Given the description of an element on the screen output the (x, y) to click on. 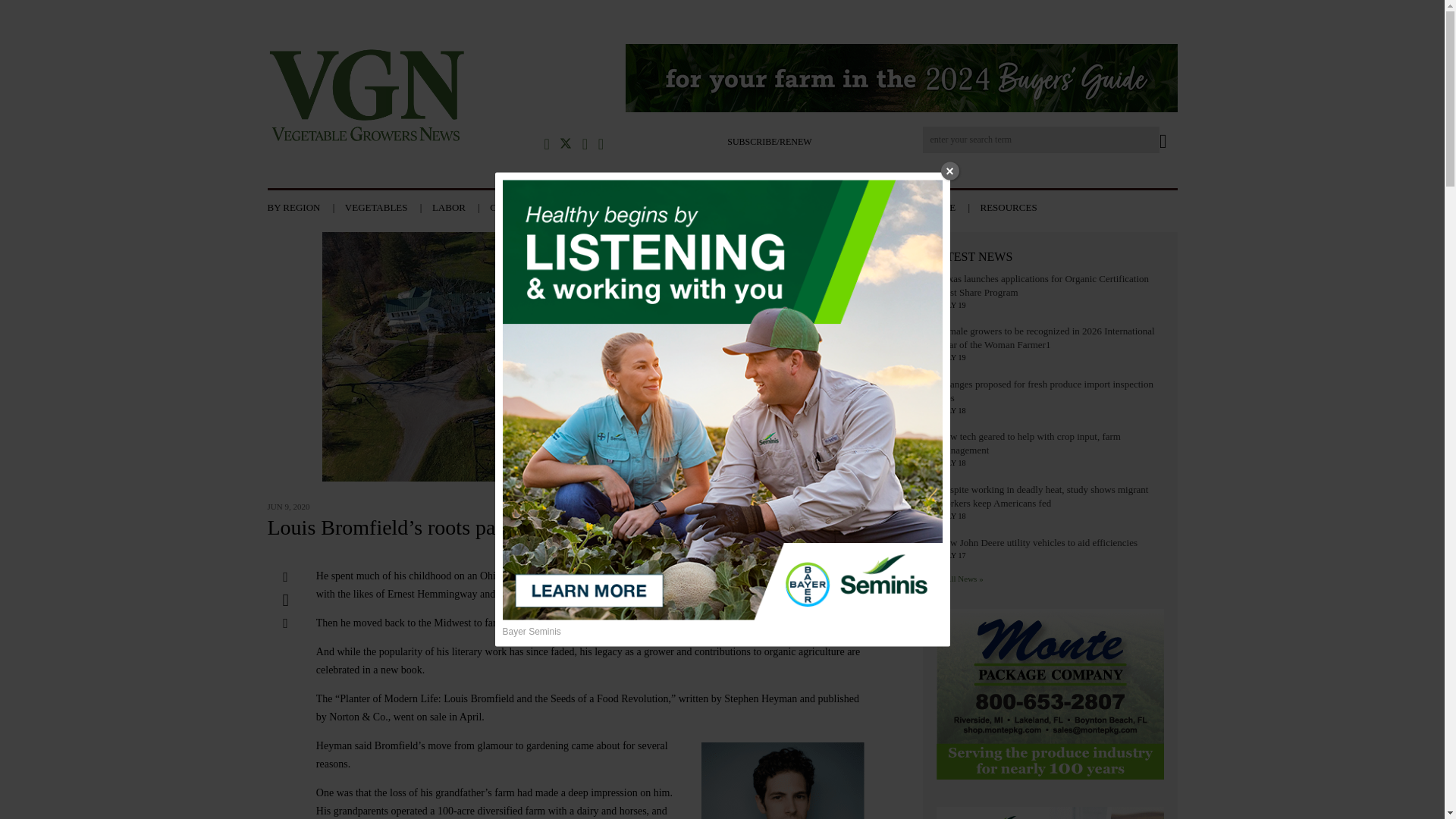
CROP PROTECTION (544, 206)
VGN 2024 Buyers' Guide (900, 80)
BY REGION (304, 206)
VEGETABLES (387, 206)
Bayer (1049, 812)
Monte Package (1049, 696)
LABOR (459, 206)
CROP MANAGEMENT (663, 206)
